Given the description of an element on the screen output the (x, y) to click on. 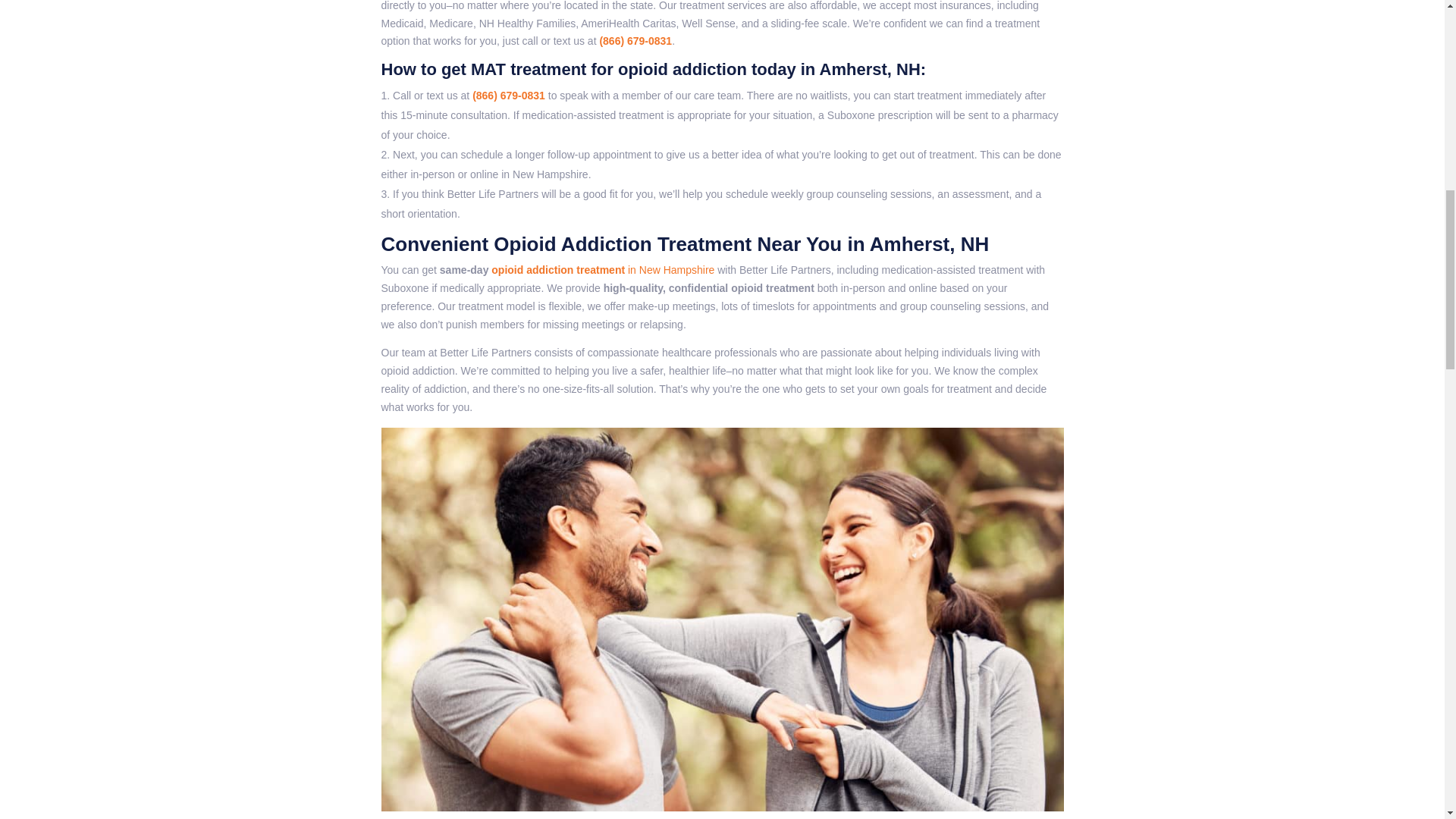
in New Hampshire (669, 269)
opioid addiction treatment (558, 269)
